Given the description of an element on the screen output the (x, y) to click on. 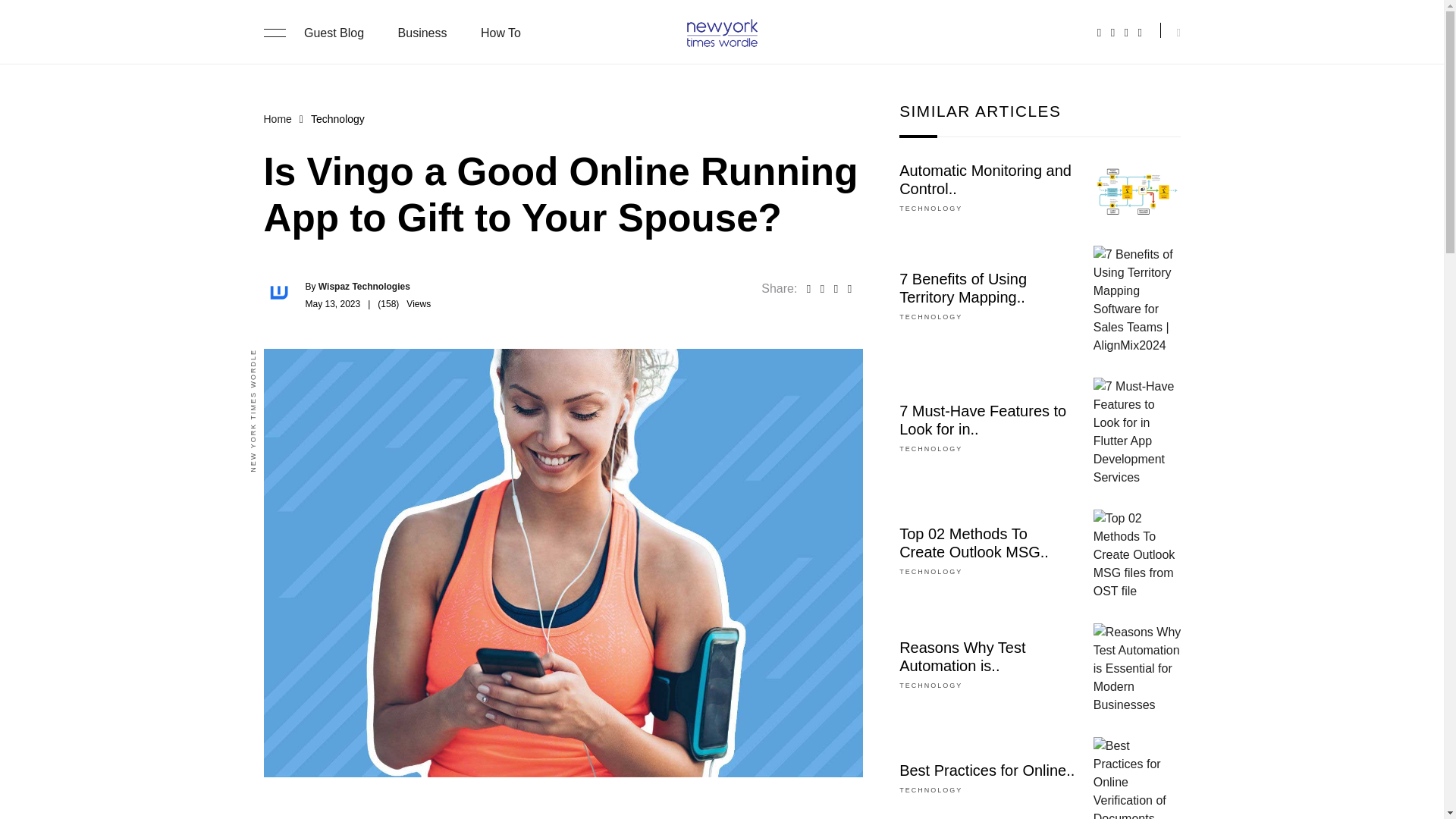
Technology (930, 316)
Business (421, 31)
Wispaz Technologies (364, 286)
How To (500, 31)
Technology (930, 448)
Best Practices for Online Verification of Documents (1136, 778)
Guest Blog (334, 31)
Technology (930, 571)
Technology (930, 208)
Technology (930, 685)
Home (277, 119)
Technology (930, 789)
